Given the description of an element on the screen output the (x, y) to click on. 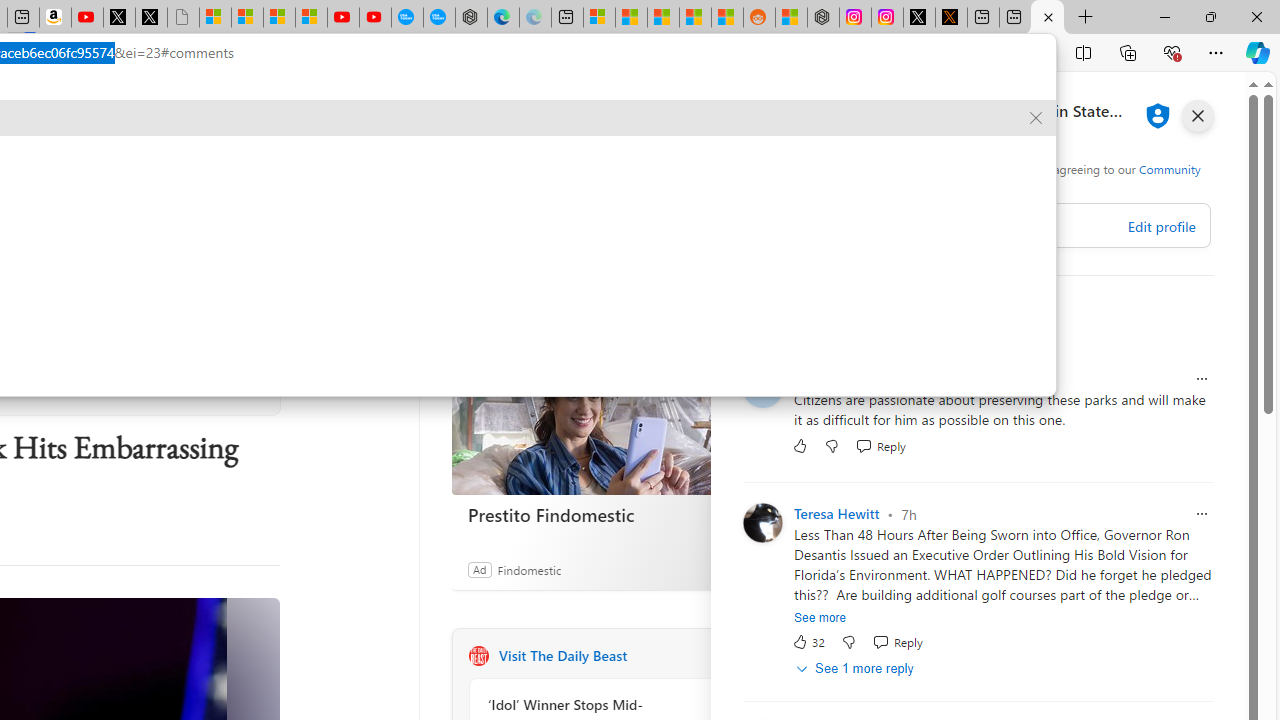
Remove suggestion (1036, 117)
Microsoft account | Microsoft Account Privacy Settings (599, 17)
Show more topics (611, 163)
Visit The Daily Beast website (726, 655)
Go to publisher's site (237, 378)
Shanghai, China hourly forecast | Microsoft Weather (663, 17)
Personalize (703, 162)
Profile Picture (762, 522)
YouTube Kids - An App Created for Kids to Explore Content (374, 17)
NCAA FB (118, 162)
